Given the description of an element on the screen output the (x, y) to click on. 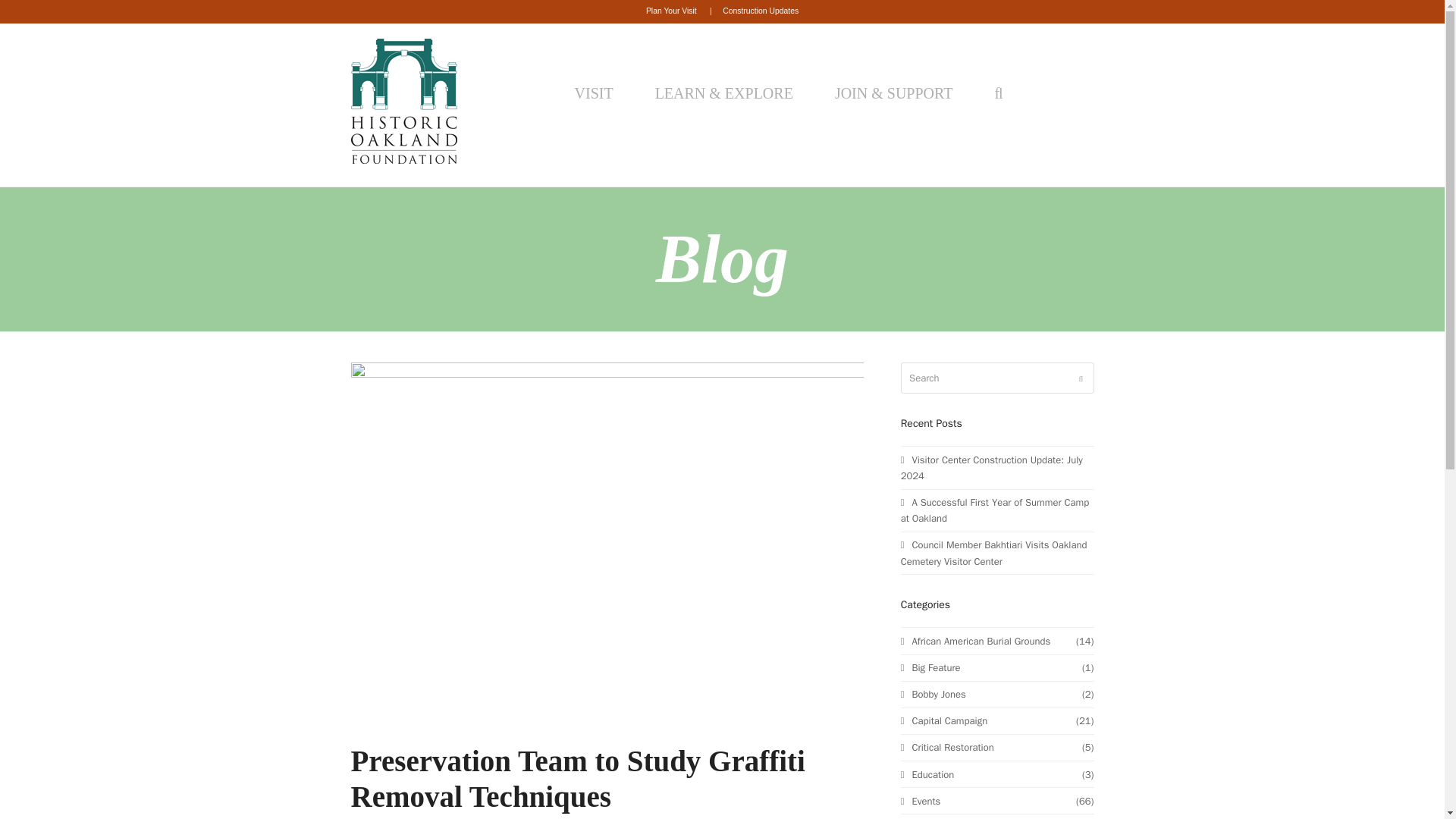
VISIT (597, 93)
Construction Updates (759, 10)
Plan Your Visit (671, 10)
